Given the description of an element on the screen output the (x, y) to click on. 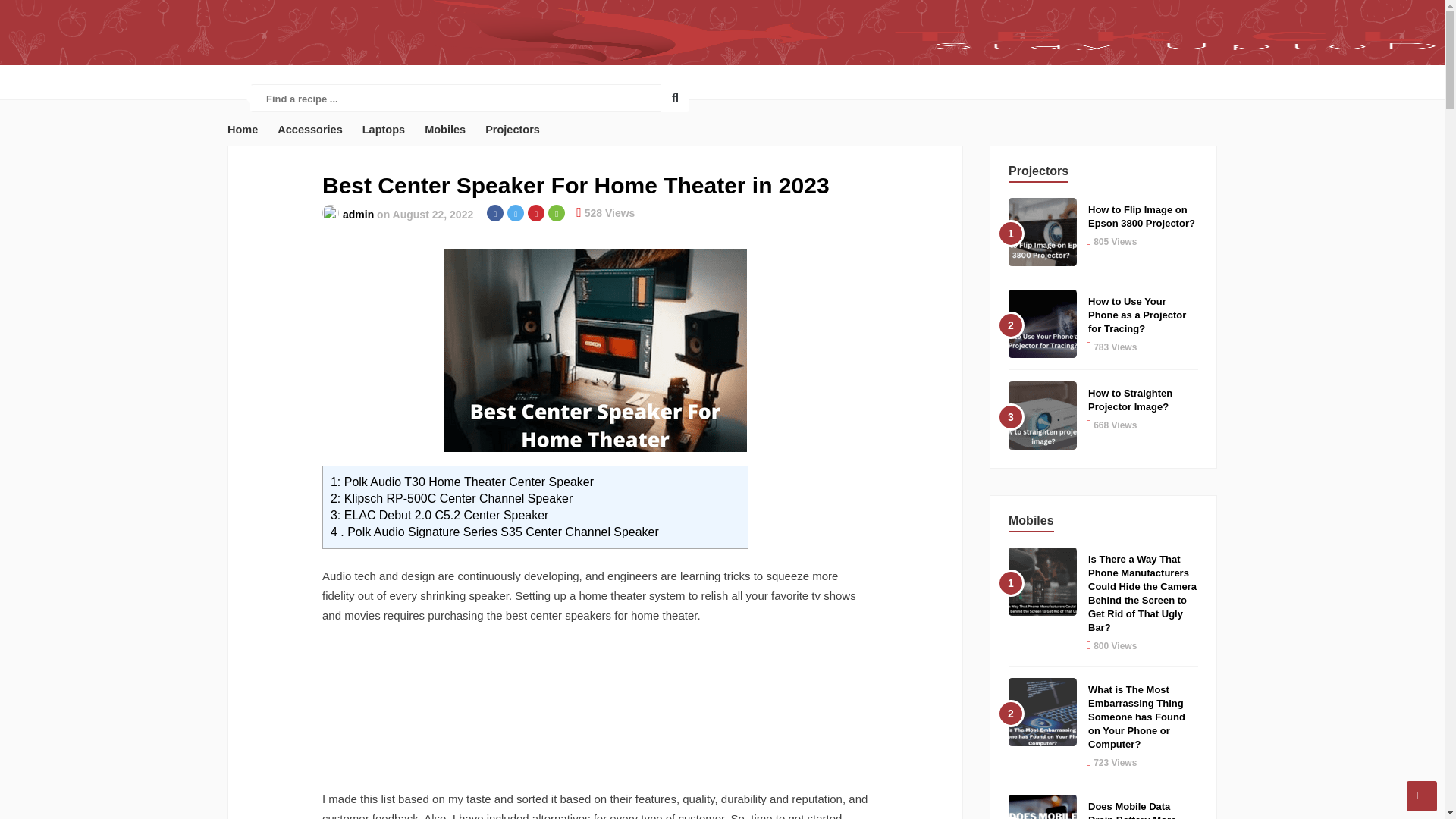
4 . Polk Audio Signature Series S35 Center Channel Speaker (494, 531)
Accessories (308, 129)
Advertisement (594, 707)
Laptops (383, 129)
Home (242, 129)
3: ELAC Debut 2.0 C5.2 Center Speaker (439, 514)
2: Klipsch RP-500C Center Channel Speaker (451, 498)
admin (358, 214)
Mobiles (445, 129)
Posts by admin (358, 214)
1: Polk Audio T30 Home Theater Center Speaker (462, 481)
Projectors (512, 129)
